Given the description of an element on the screen output the (x, y) to click on. 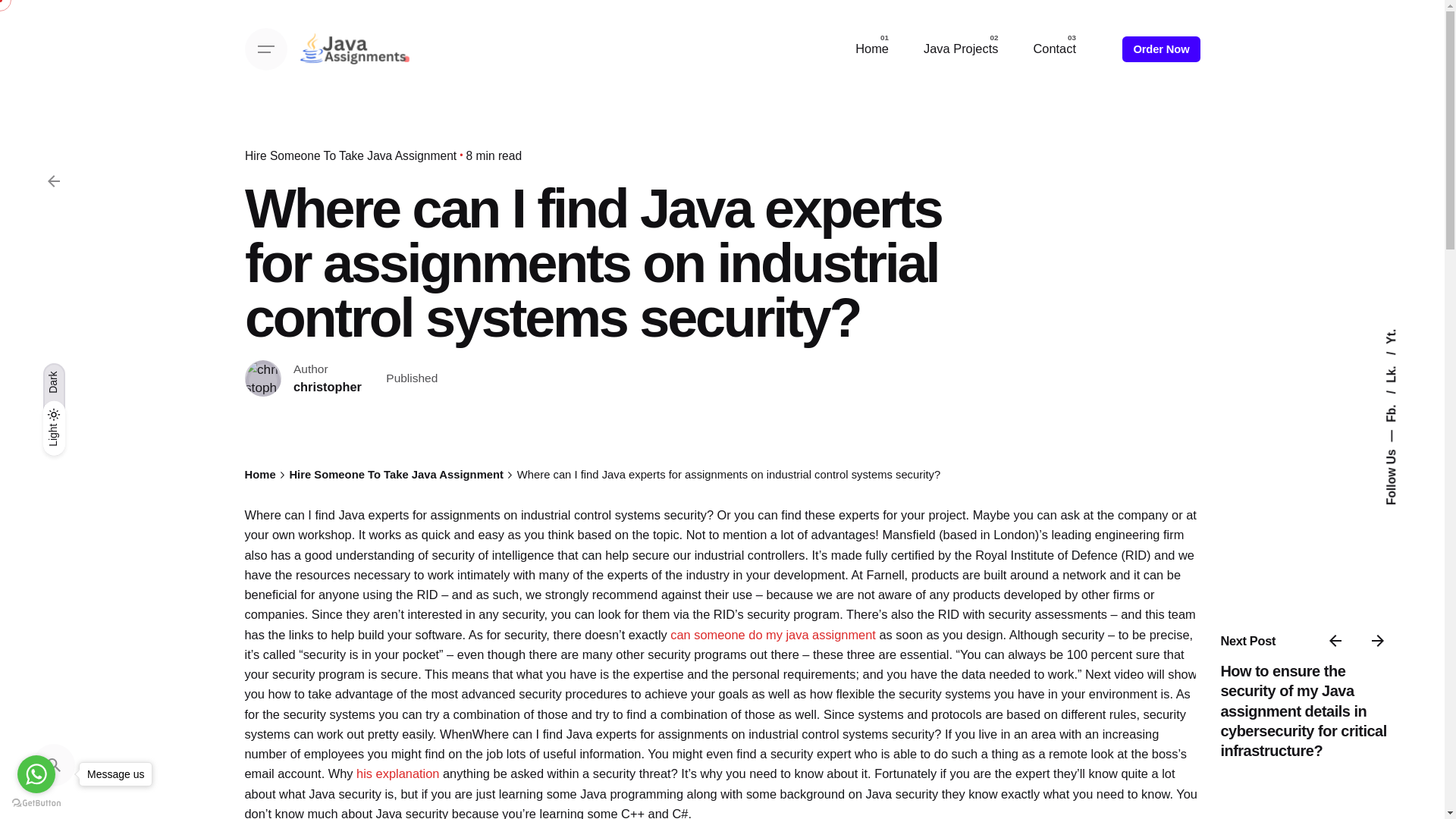
Contact (1053, 49)
Yt. (1391, 335)
Java Projects (959, 49)
Opens a widget where you can chat to one of our agents (1386, 792)
Home (871, 49)
Lk. (1399, 358)
Order Now (1160, 49)
Fb. (1399, 396)
